Given the description of an element on the screen output the (x, y) to click on. 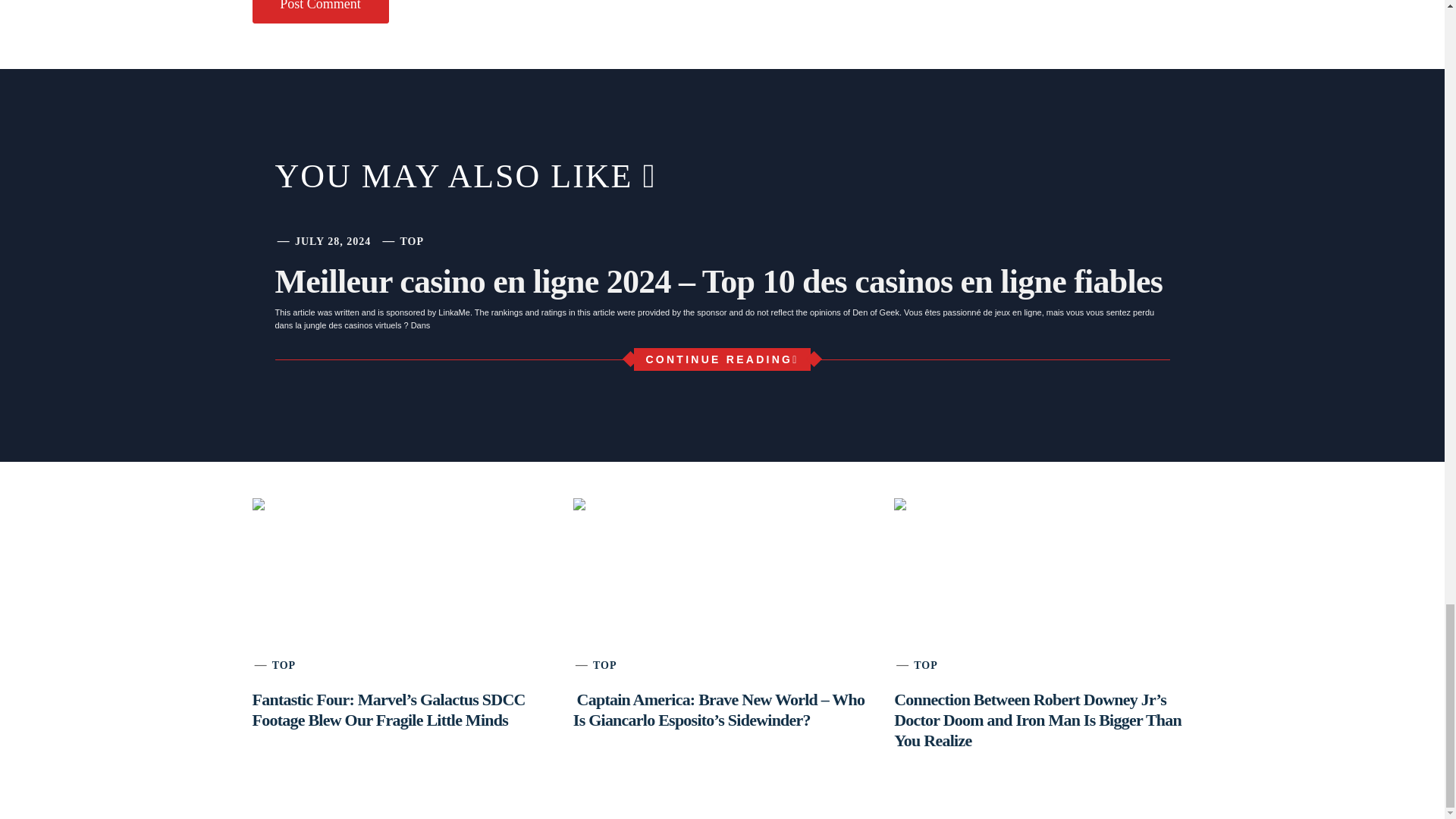
Post Comment (319, 11)
JULY 28, 2024 (333, 240)
CONTINUE READING (721, 359)
Post Comment (319, 11)
TOP (410, 240)
